Given the description of an element on the screen output the (x, y) to click on. 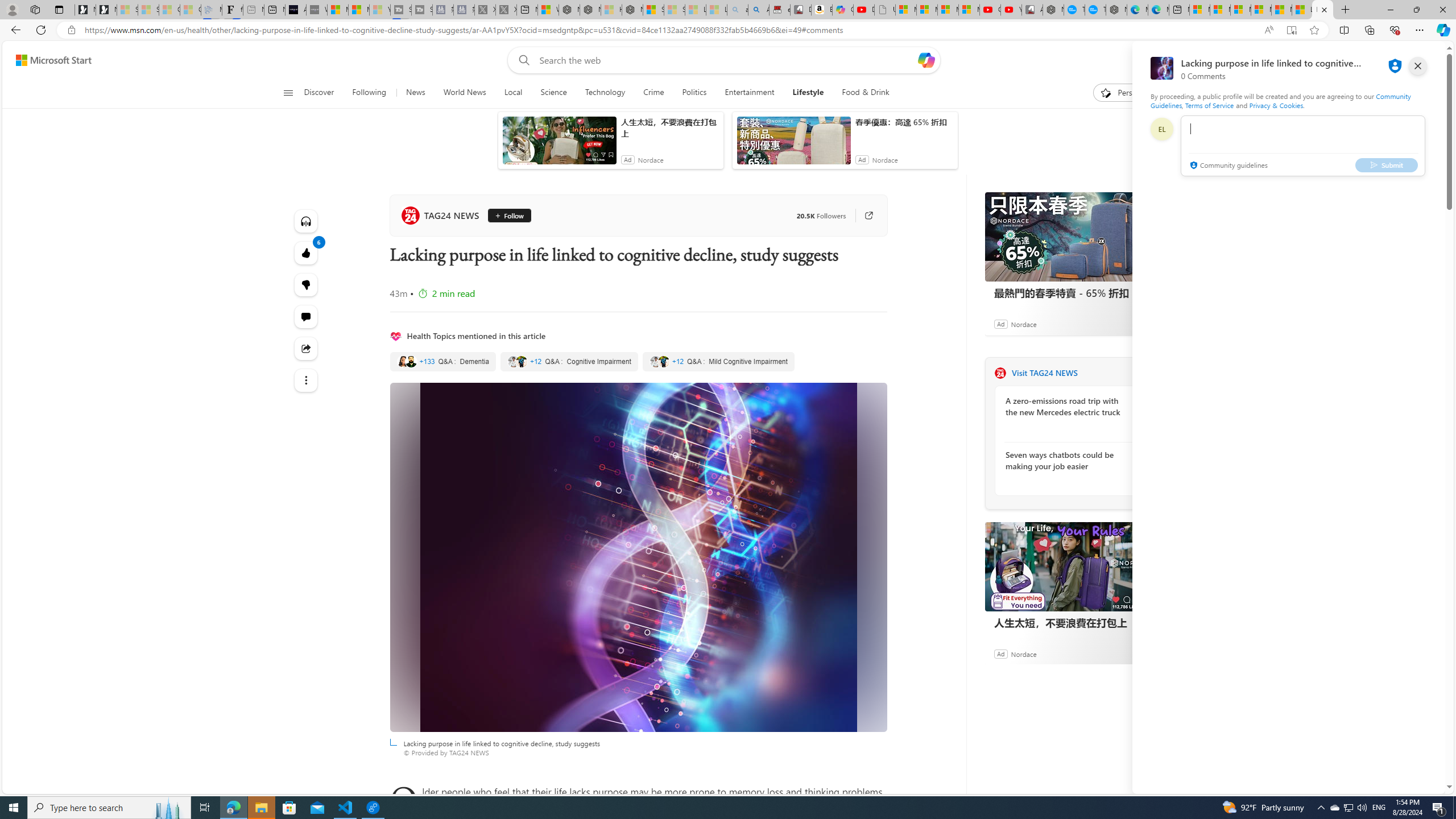
Food & Drink (860, 92)
Newsletter Sign Up (106, 9)
Local (512, 92)
6 Like (305, 252)
Nordace - Nordace Siena Is Not An Ordinary Backpack (632, 9)
anim-content (793, 144)
close (1417, 65)
